Given the description of an element on the screen output the (x, y) to click on. 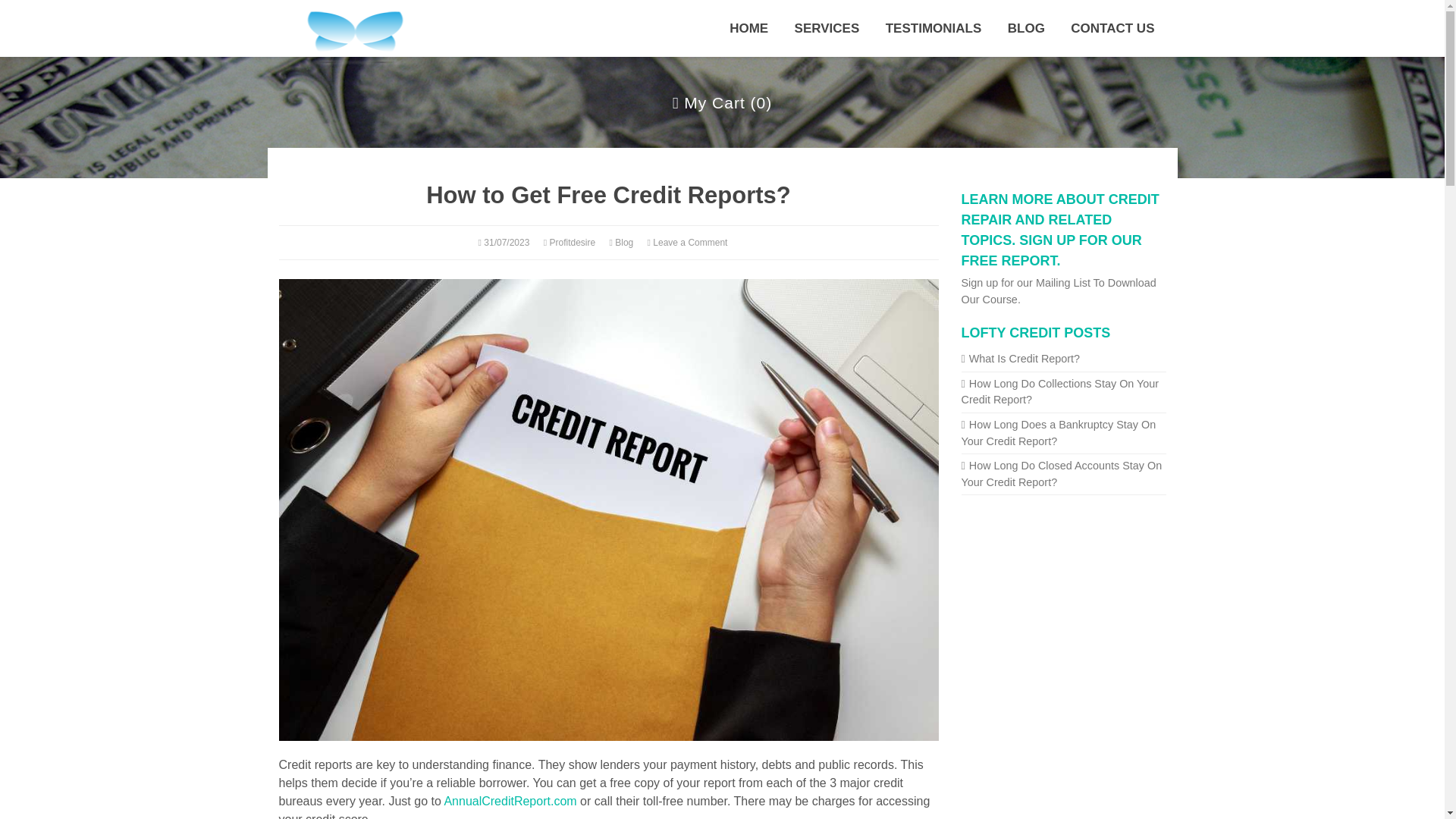
How Long Do Closed Accounts Stay On Your Credit Report? (1060, 473)
HOME (747, 28)
How Long Does a Bankruptcy Stay On Your Credit Report? (1058, 432)
What Is Credit Report? (1020, 358)
SERVICES (826, 28)
TESTIMONIALS (933, 28)
Profitdesire (571, 241)
How Long Do Collections Stay On Your Credit Report? (1059, 391)
BLOG (1026, 28)
Blog (623, 241)
CONTACT US (1112, 28)
AnnualCreditReport.com (510, 800)
Leave a Comment (689, 241)
